Given the description of an element on the screen output the (x, y) to click on. 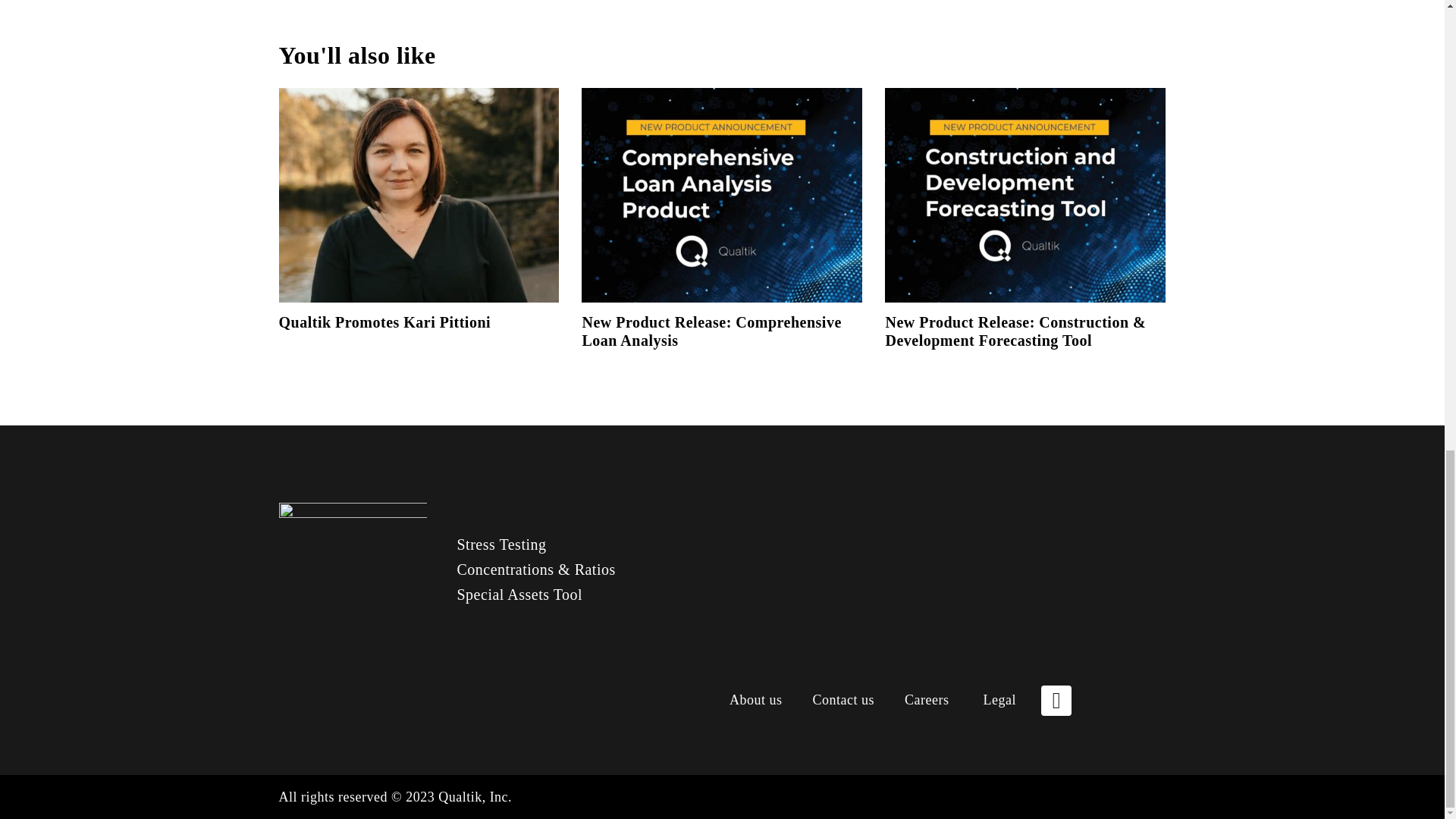
New Product Release: Comprehensive Loan Analysis (710, 330)
Stress Testing (501, 544)
Qualtik Promotes Kari Pittioni (385, 321)
New Product Release: Comprehensive Loan Analysis (710, 330)
Qualtik Promotes Kari Pittioni (385, 321)
LinkedIn (1056, 700)
